Given the description of an element on the screen output the (x, y) to click on. 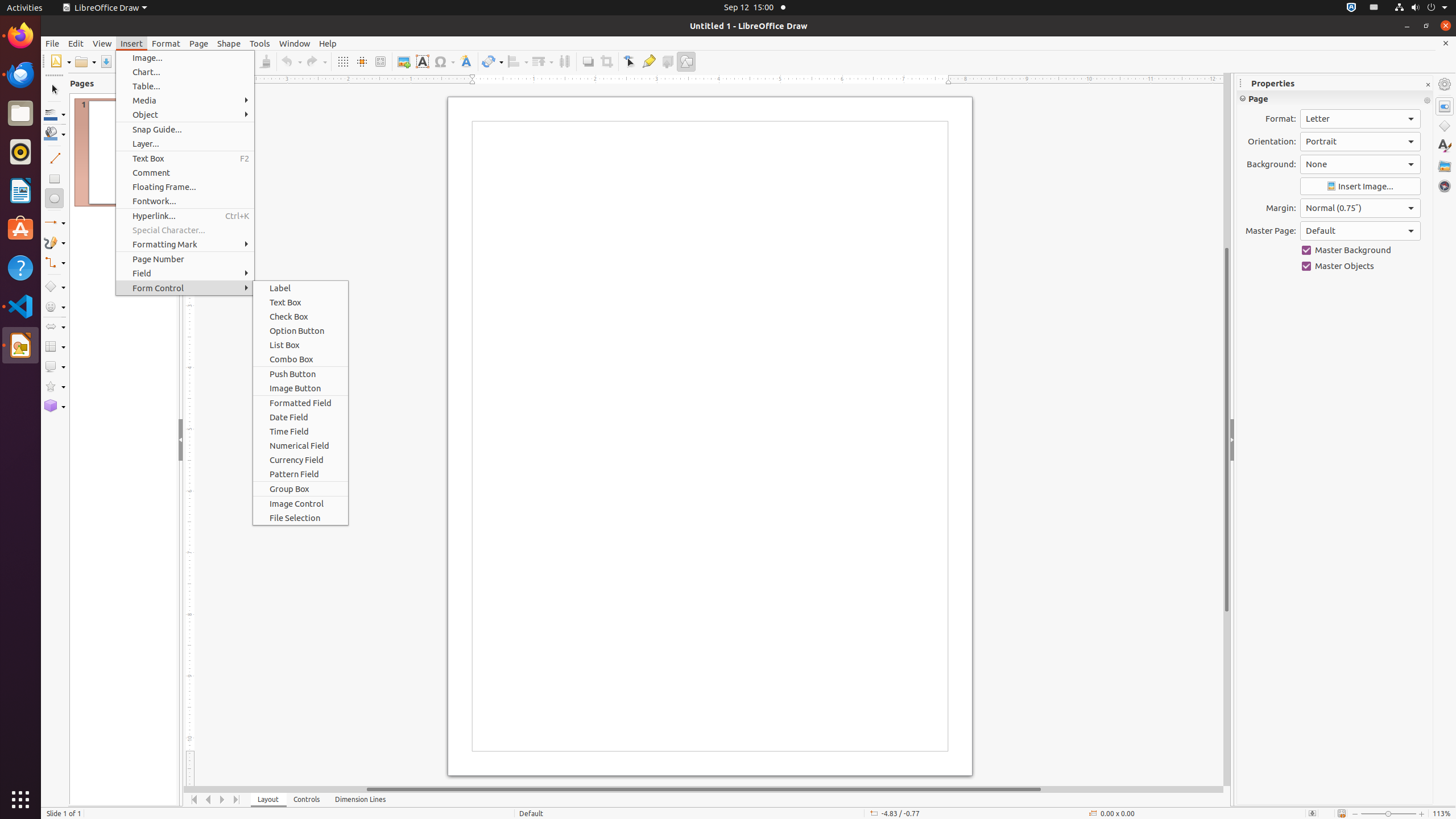
Formatting Mark Element type: menu (185, 244)
Margin: Element type: combo-box (1360, 207)
Shape Element type: menu (228, 43)
Toggle Extrusion Element type: push-button (667, 61)
Close Sidebar Deck Element type: push-button (1427, 84)
